Given the description of an element on the screen output the (x, y) to click on. 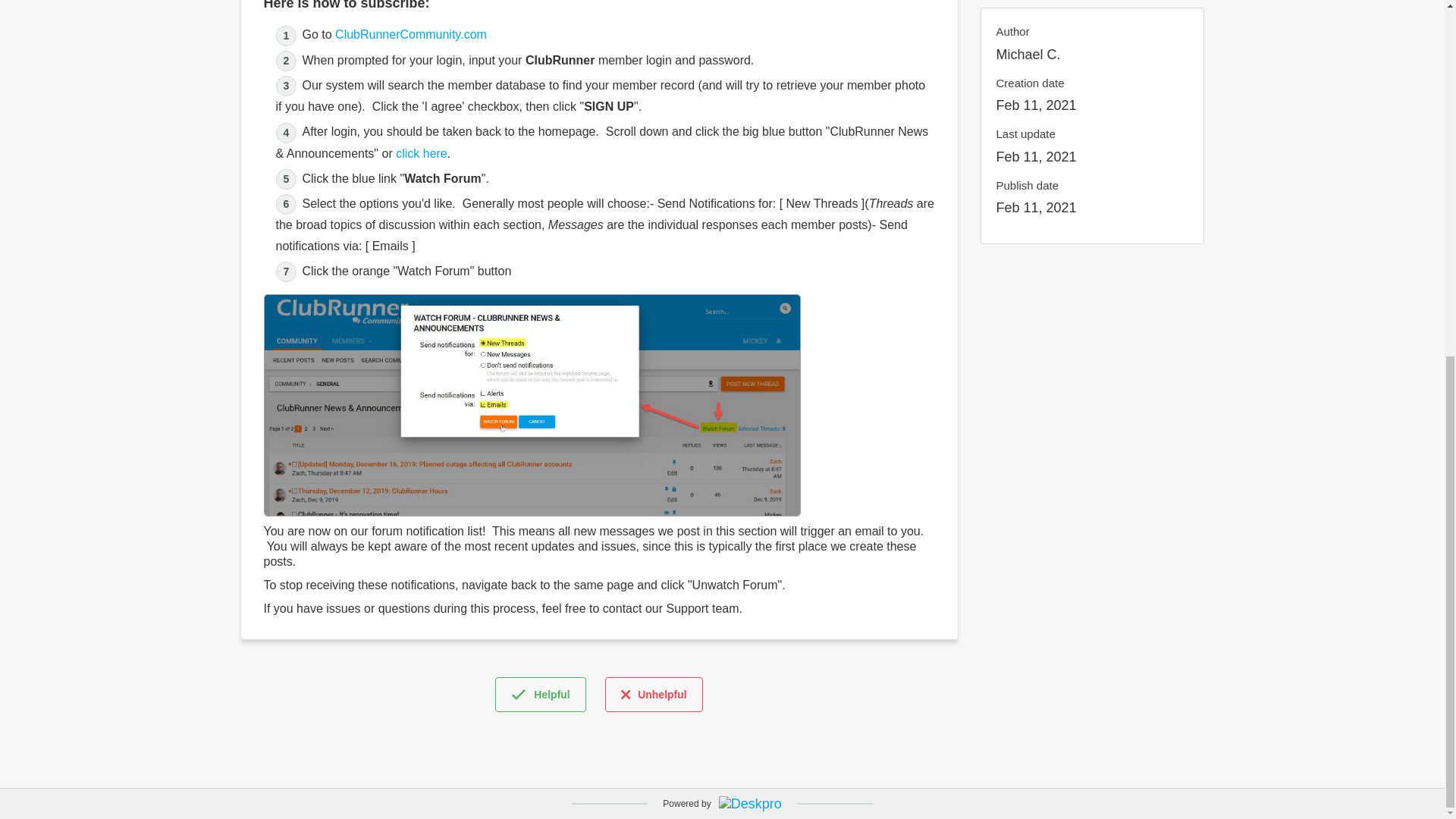
ClubRunnerCommunity.com (410, 33)
click here (421, 153)
Helpful (540, 694)
Unhelpful (654, 694)
